Given the description of an element on the screen output the (x, y) to click on. 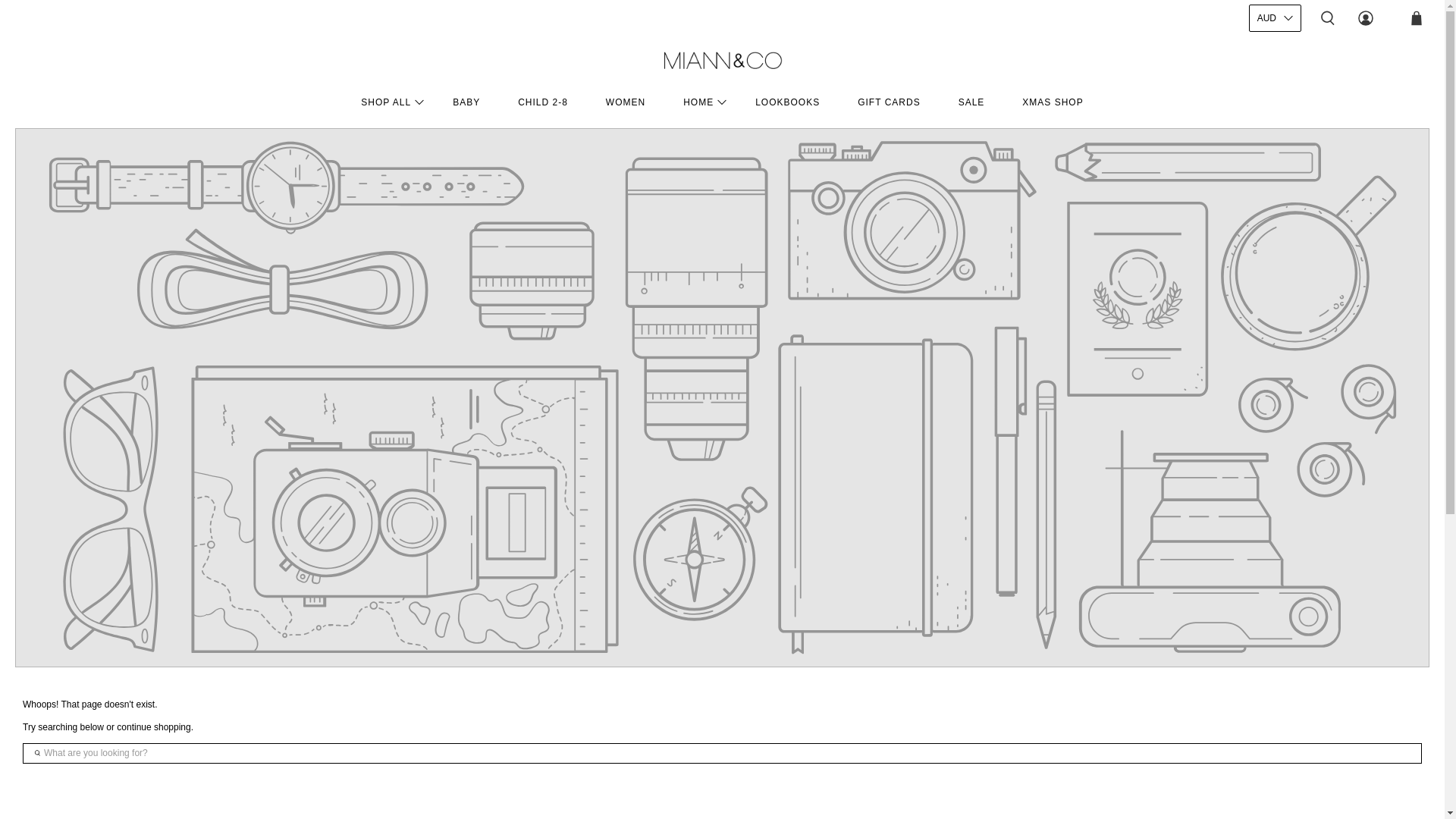
JPY Element type: text (1274, 230)
INR Element type: text (1274, 101)
LOOKBOOKS Element type: text (787, 102)
CHILD 2-8 Element type: text (542, 102)
SHOP ALL Element type: text (387, 102)
USD Element type: text (1274, 49)
HOME Element type: text (700, 102)
WOMEN Element type: text (625, 102)
AUD Element type: text (1274, 153)
MIANN & CO Element type: hover (721, 60)
XMAS SHOP Element type: text (1052, 102)
continue shopping Element type: text (153, 726)
EUR Element type: text (1274, 204)
CAD Element type: text (1274, 75)
BABY Element type: text (465, 102)
GIFT CARDS Element type: text (888, 102)
NZD Element type: text (1274, 178)
GBP Element type: text (1274, 127)
AUD Element type: text (1274, 17)
SALE Element type: text (971, 102)
